Given the description of an element on the screen output the (x, y) to click on. 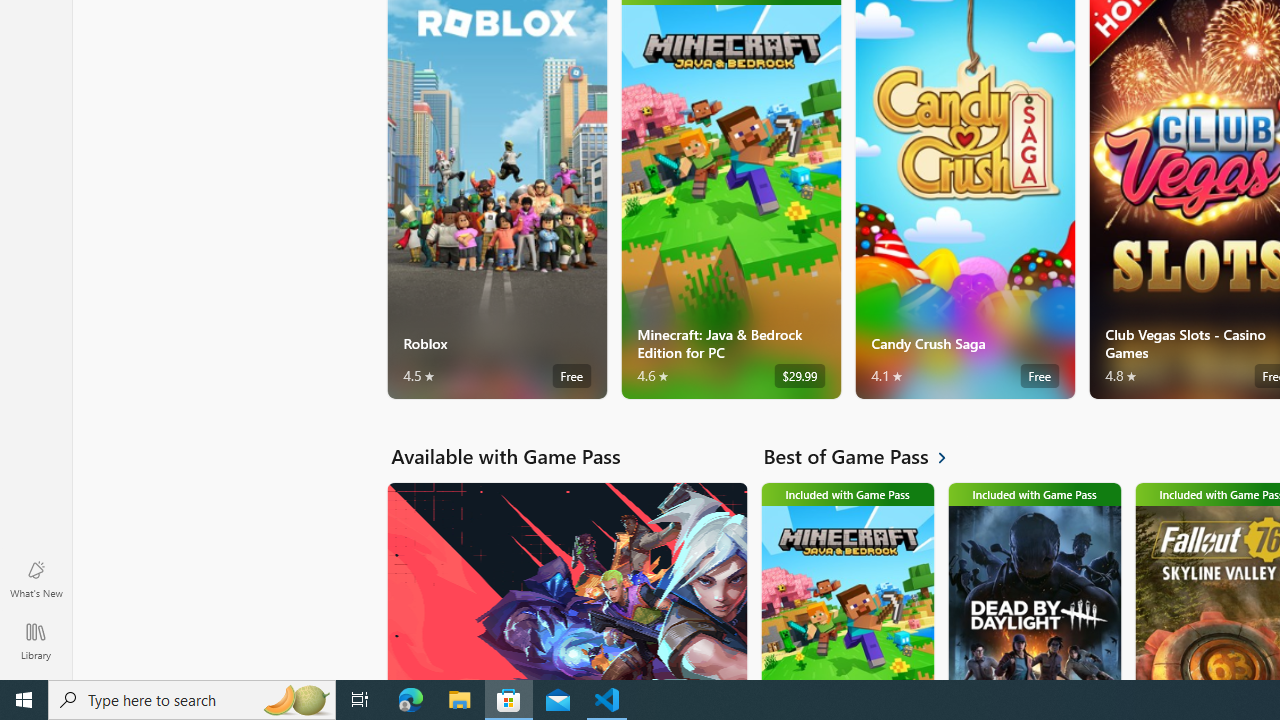
What's New (35, 578)
Library (35, 640)
See all  Best of Game Pass (866, 455)
Available with Game Pass. VALORANT (566, 580)
